Given the description of an element on the screen output the (x, y) to click on. 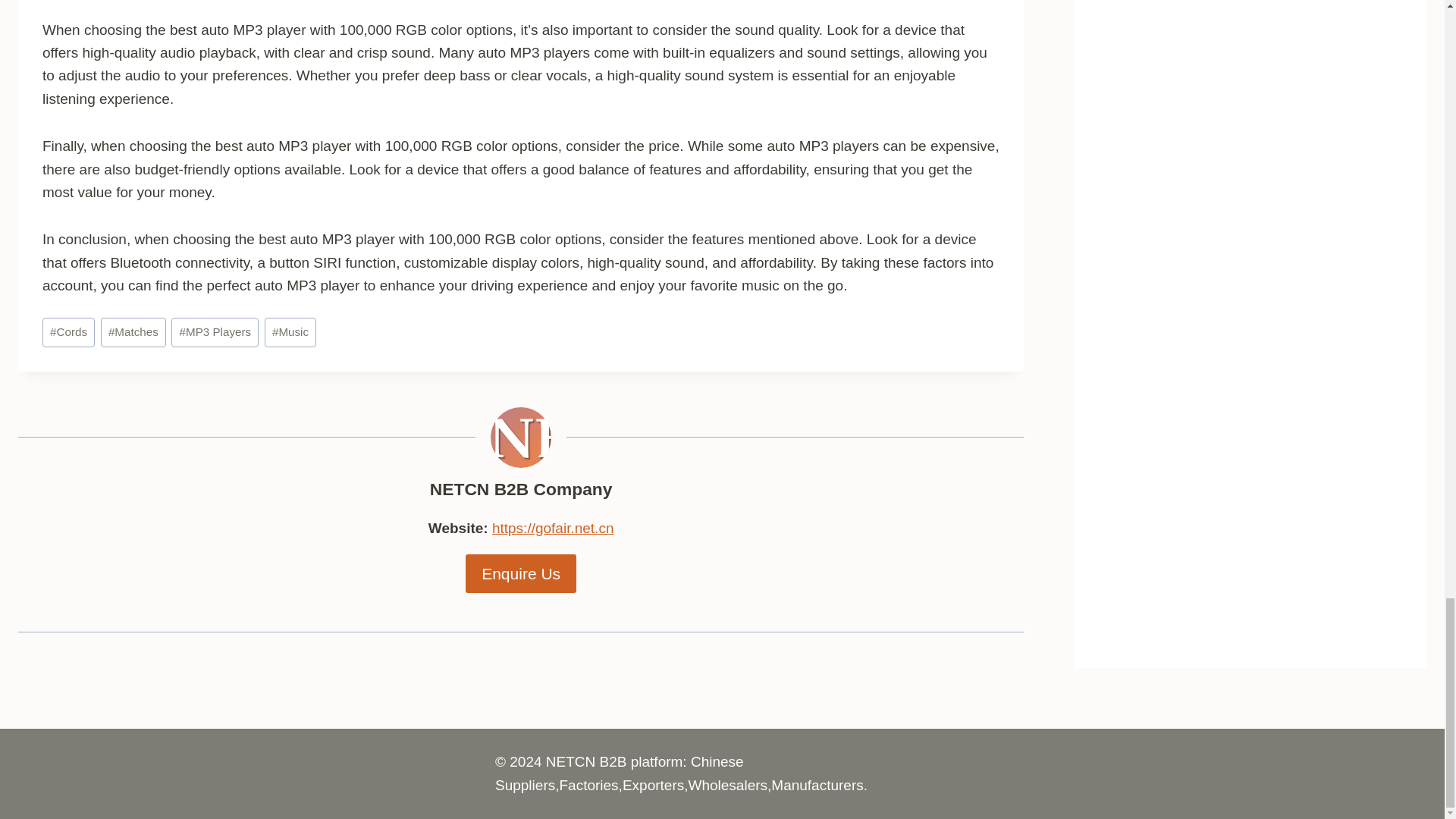
MP3 Players (215, 331)
Music (289, 331)
Matches (132, 331)
Cords (68, 331)
